Given the description of an element on the screen output the (x, y) to click on. 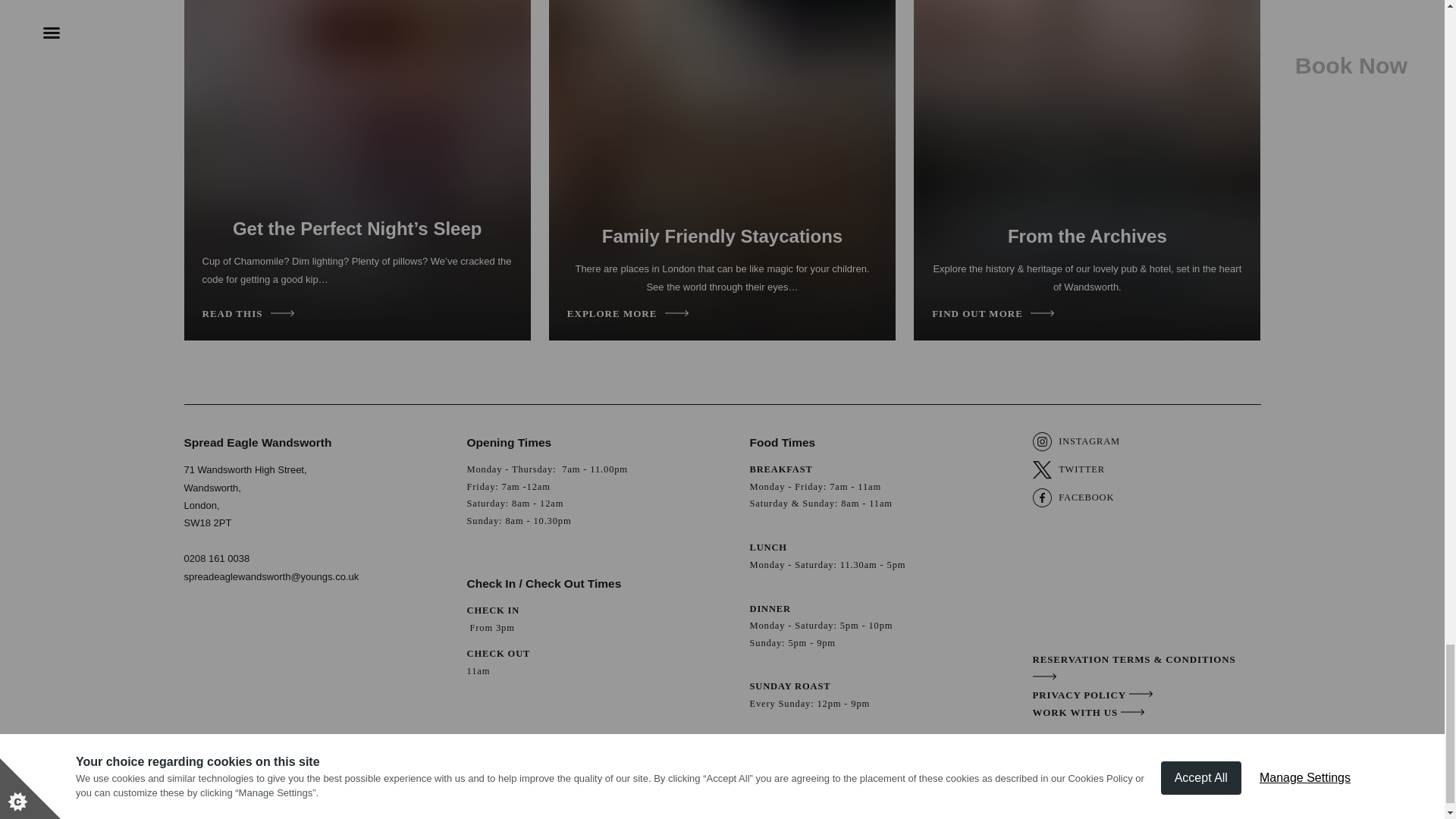
WORK WITH US (1088, 712)
INSTAGRAM (1076, 441)
Want to work with us? Learn more here (1088, 712)
SITE BY PROPELLER (1218, 782)
TWITTER (1076, 469)
FACEBOOK (1076, 497)
0208 161 0038 (215, 558)
Read our Privacy Policy (1093, 695)
PRIVACY POLICY (1093, 695)
